Given the description of an element on the screen output the (x, y) to click on. 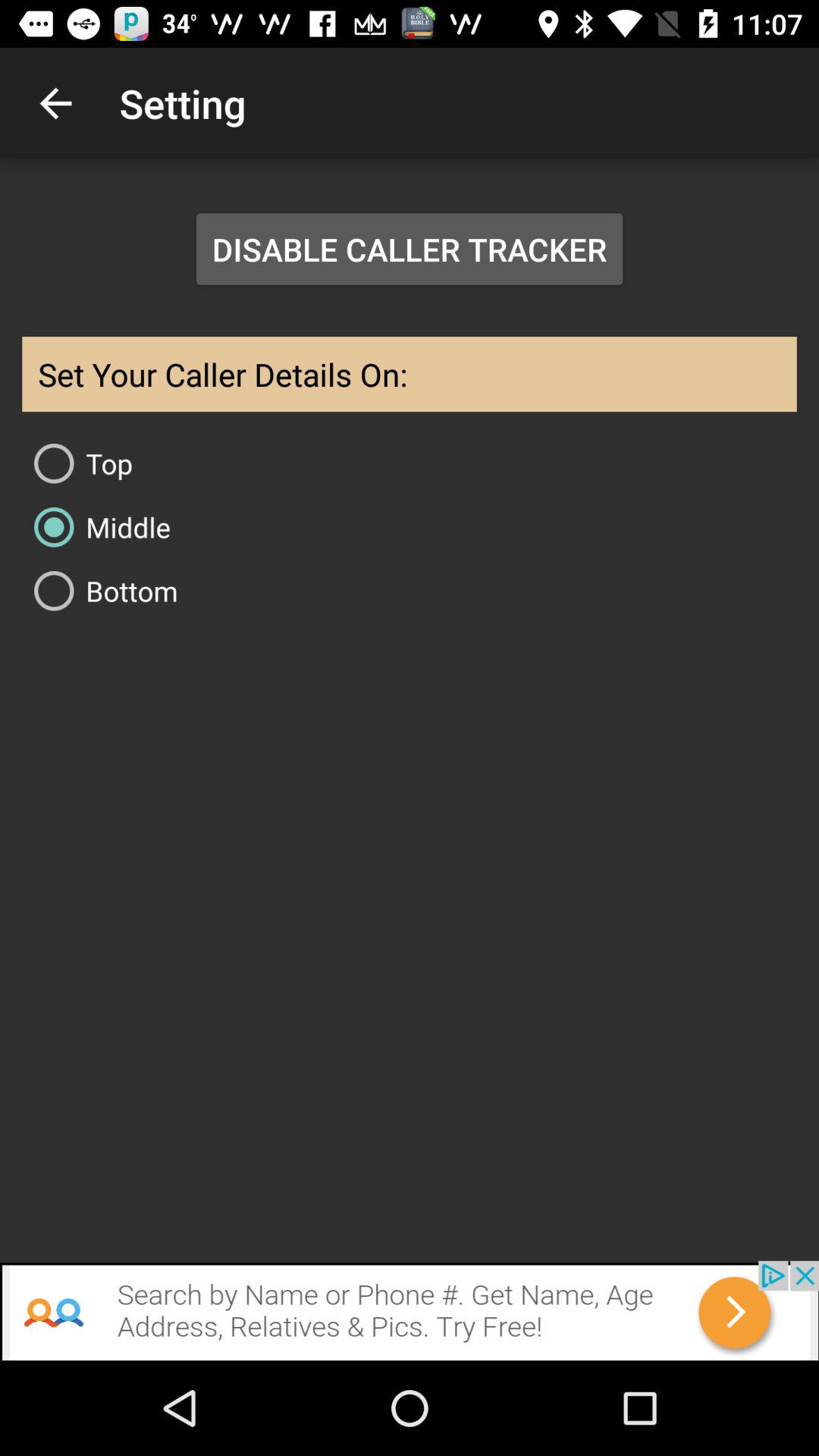
advertisement option (409, 1310)
